Given the description of an element on the screen output the (x, y) to click on. 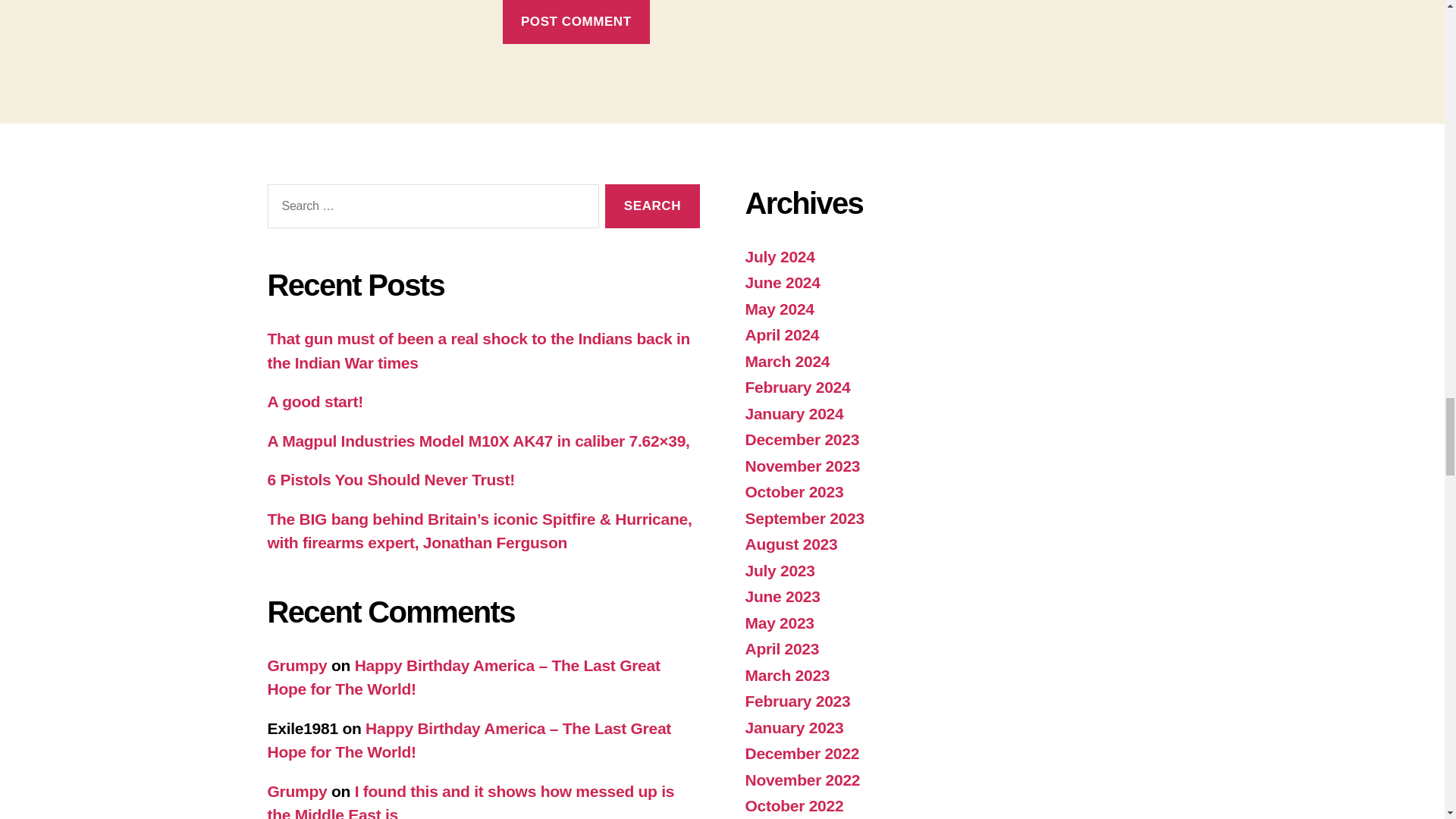
Post Comment (575, 22)
Search (651, 206)
Search (651, 206)
